Given the description of an element on the screen output the (x, y) to click on. 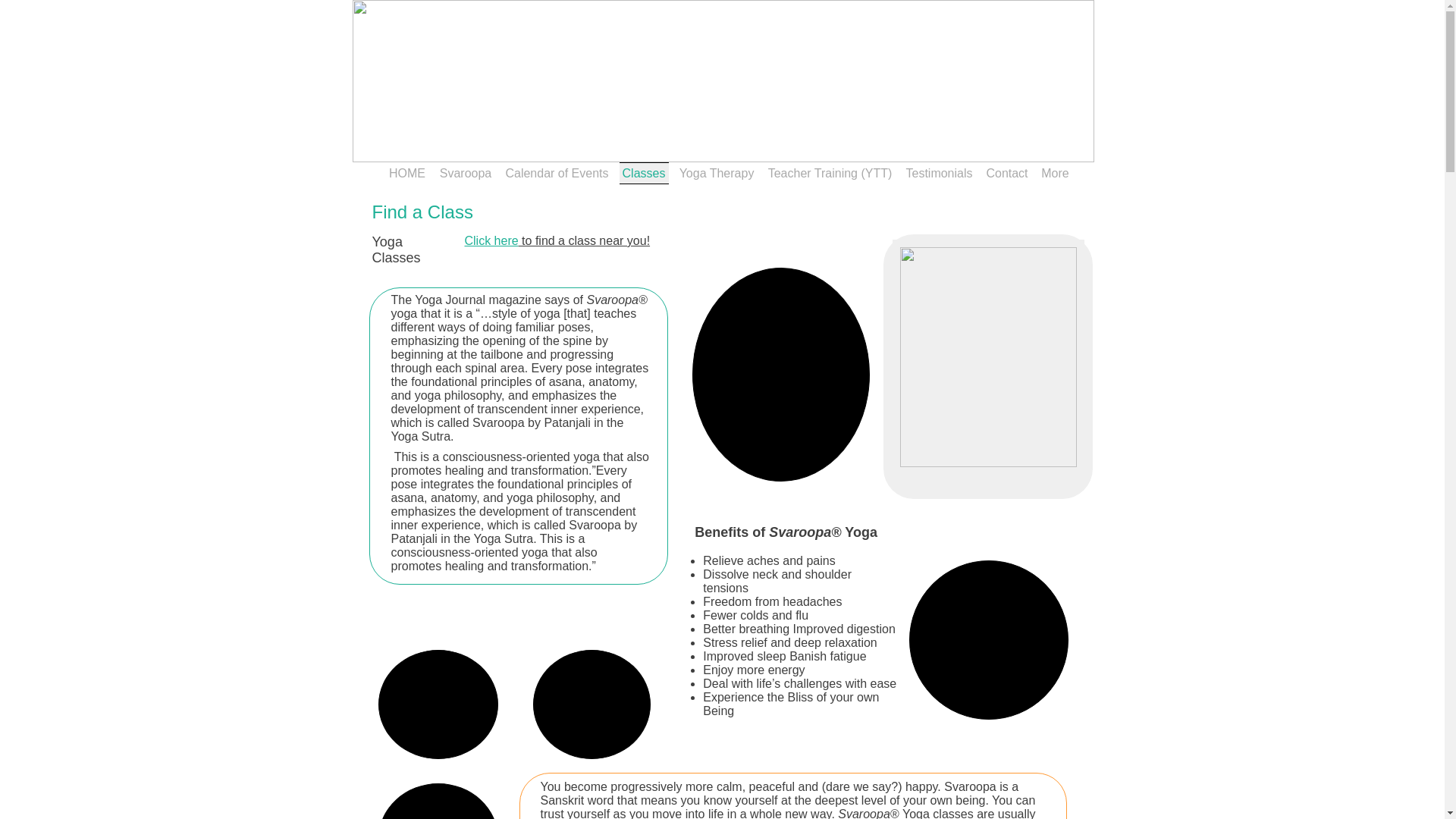
Find a Class Element type: text (421, 212)
Calendar of Events Element type: text (556, 173)
Svaroopa Element type: text (465, 173)
Classes Element type: text (643, 173)
Teacher Training (YTT) Element type: text (830, 173)
HOME Element type: text (408, 173)
Contact Element type: text (1007, 173)
Yoga Therapy Element type: text (715, 173)
Testimonials Element type: text (939, 173)
Click here to find a class near you! Element type: text (556, 240)
